Given the description of an element on the screen output the (x, y) to click on. 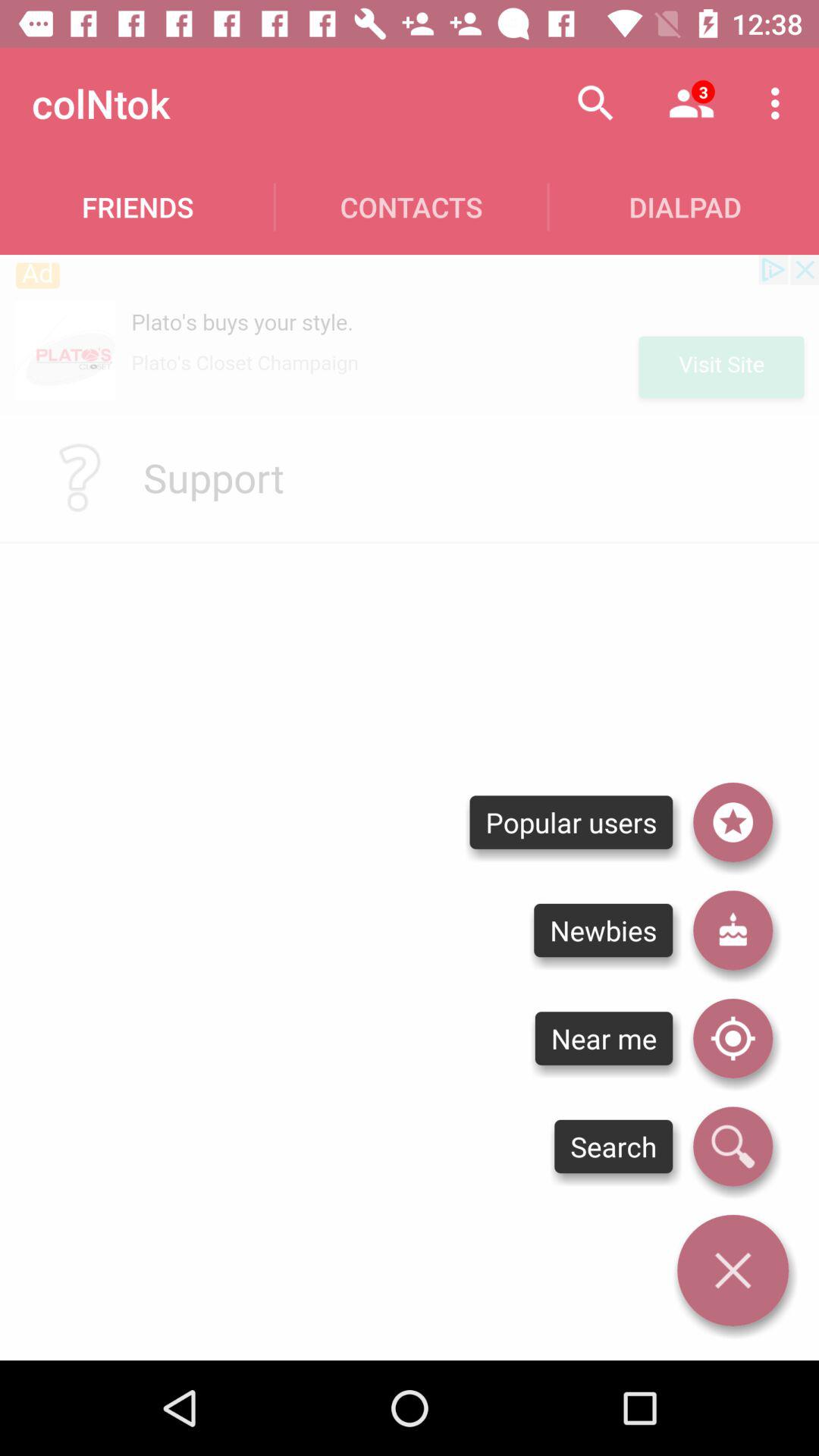
shearch button (733, 1146)
